Given the description of an element on the screen output the (x, y) to click on. 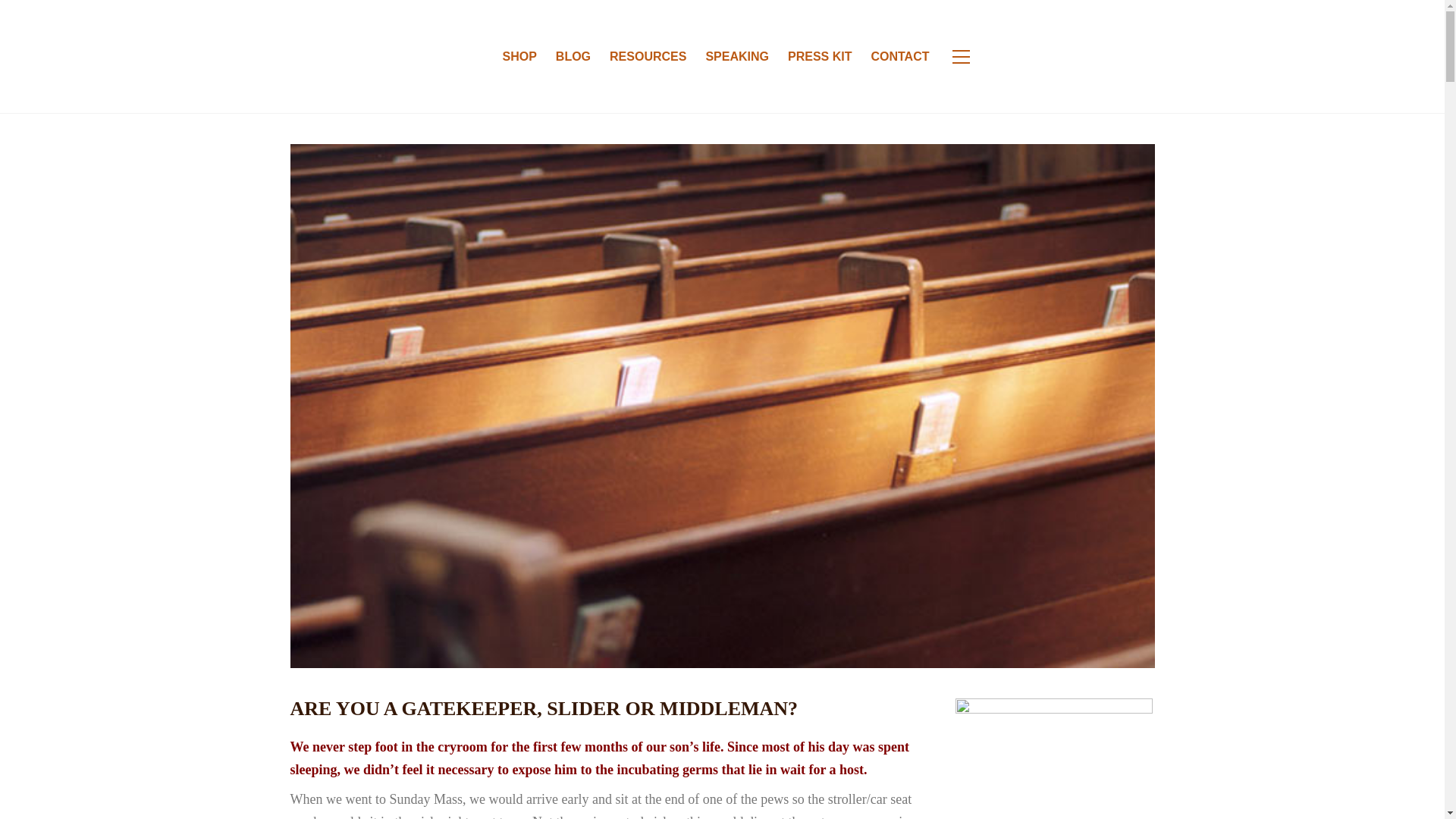
RESOURCES (647, 56)
SHOP (518, 56)
BLOG (573, 56)
